Given the description of an element on the screen output the (x, y) to click on. 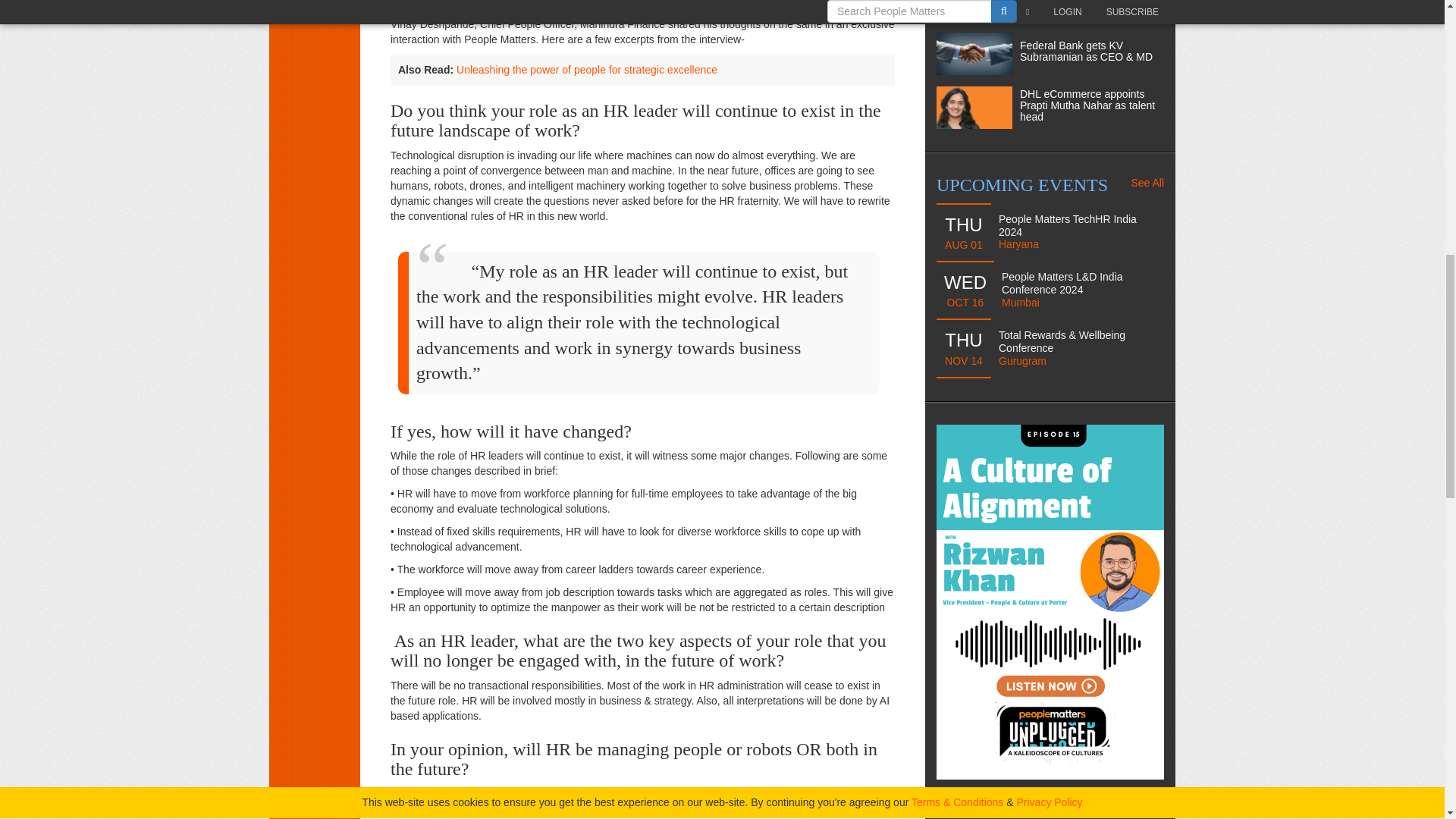
Unleashing the power of people for strategic excellence (587, 69)
